Given the description of an element on the screen output the (x, y) to click on. 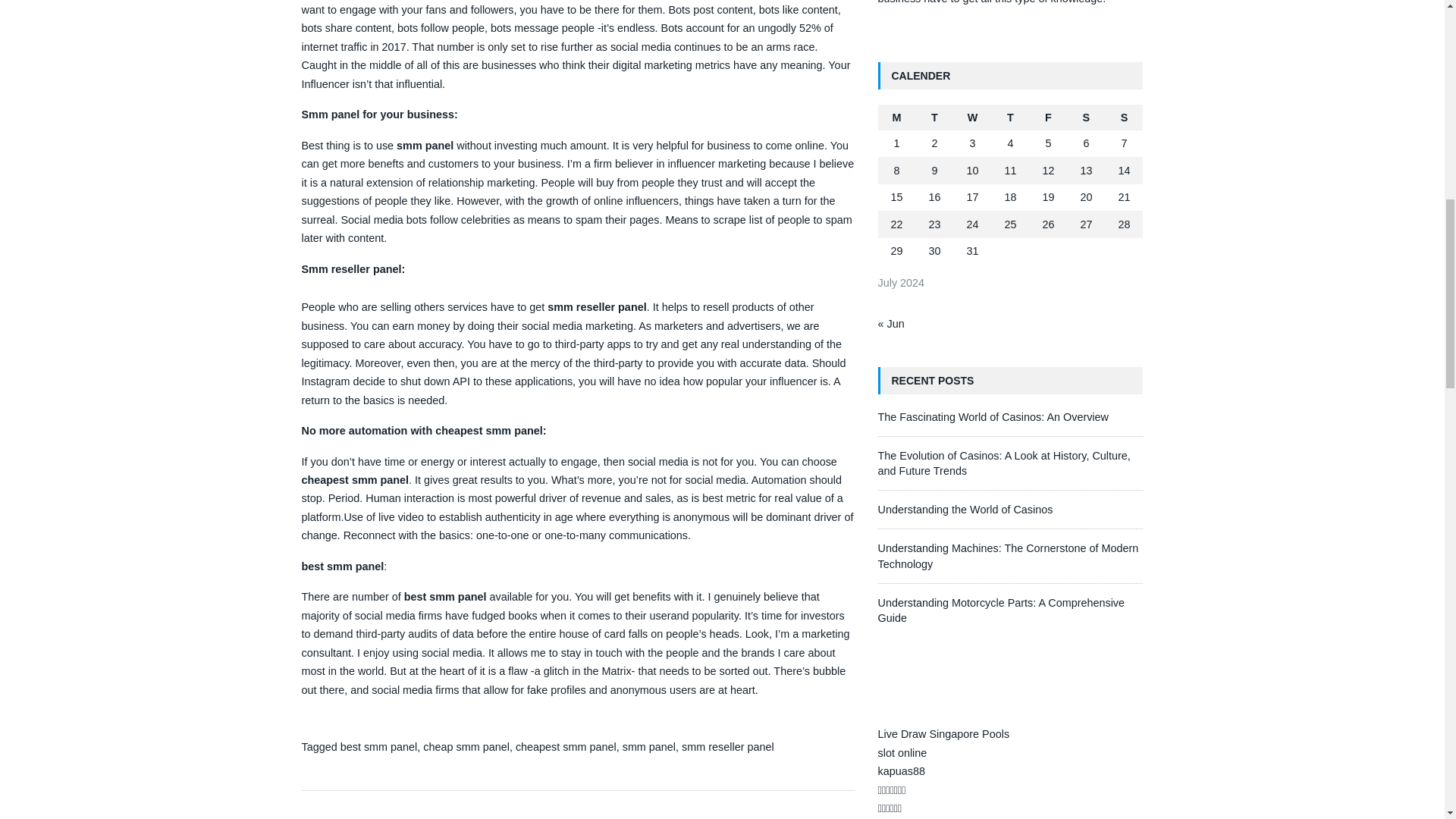
20 (1086, 196)
smm panel (424, 145)
21 (1123, 196)
cheapest smm panel (355, 480)
best smm panel (378, 746)
smm reseller panel (727, 746)
15 (895, 196)
best smm panel (445, 596)
13 (1086, 170)
cheapest smm panel (565, 746)
24 (972, 224)
23 (934, 224)
smm panel (649, 746)
smm reseller panel (596, 306)
cheap smm panel (466, 746)
